Given the description of an element on the screen output the (x, y) to click on. 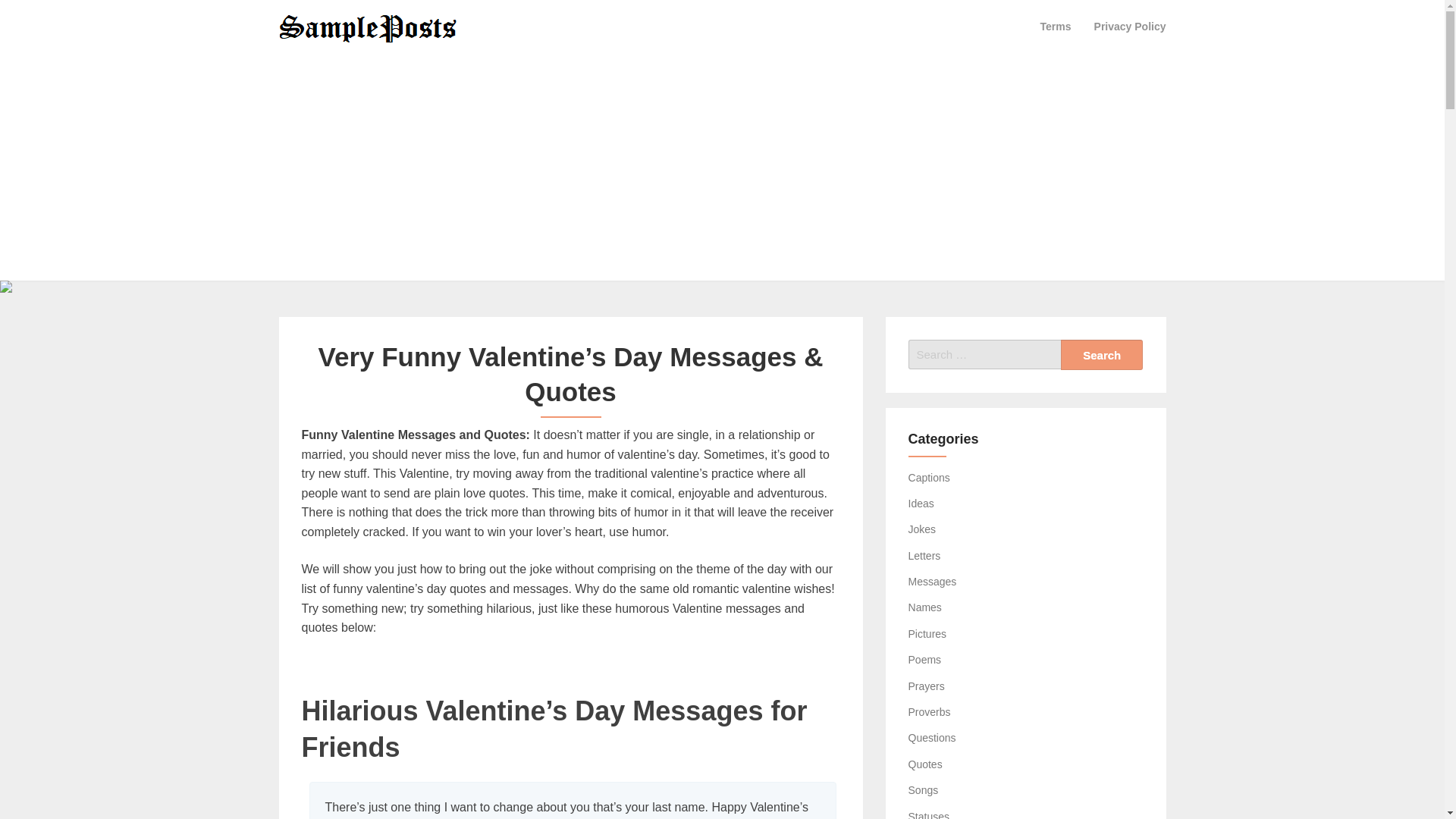
Search (1101, 354)
Statuses (928, 814)
Questions (932, 737)
Ideas (921, 503)
Captions (929, 477)
Songs (923, 789)
Quotes (925, 764)
Proverbs (929, 711)
Names (925, 607)
Search (1101, 354)
